Given the description of an element on the screen output the (x, y) to click on. 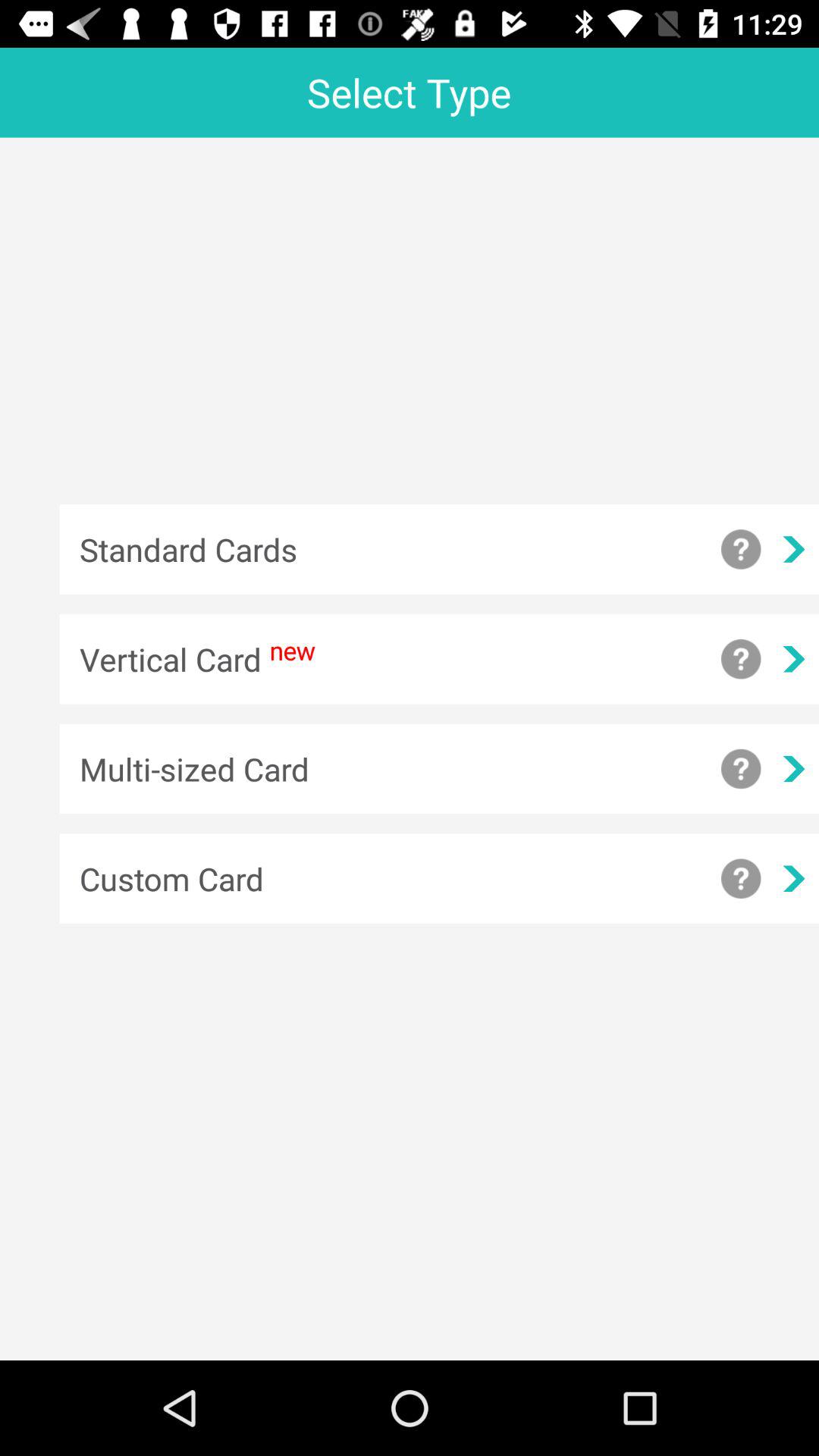
help with standard cards (740, 549)
